Given the description of an element on the screen output the (x, y) to click on. 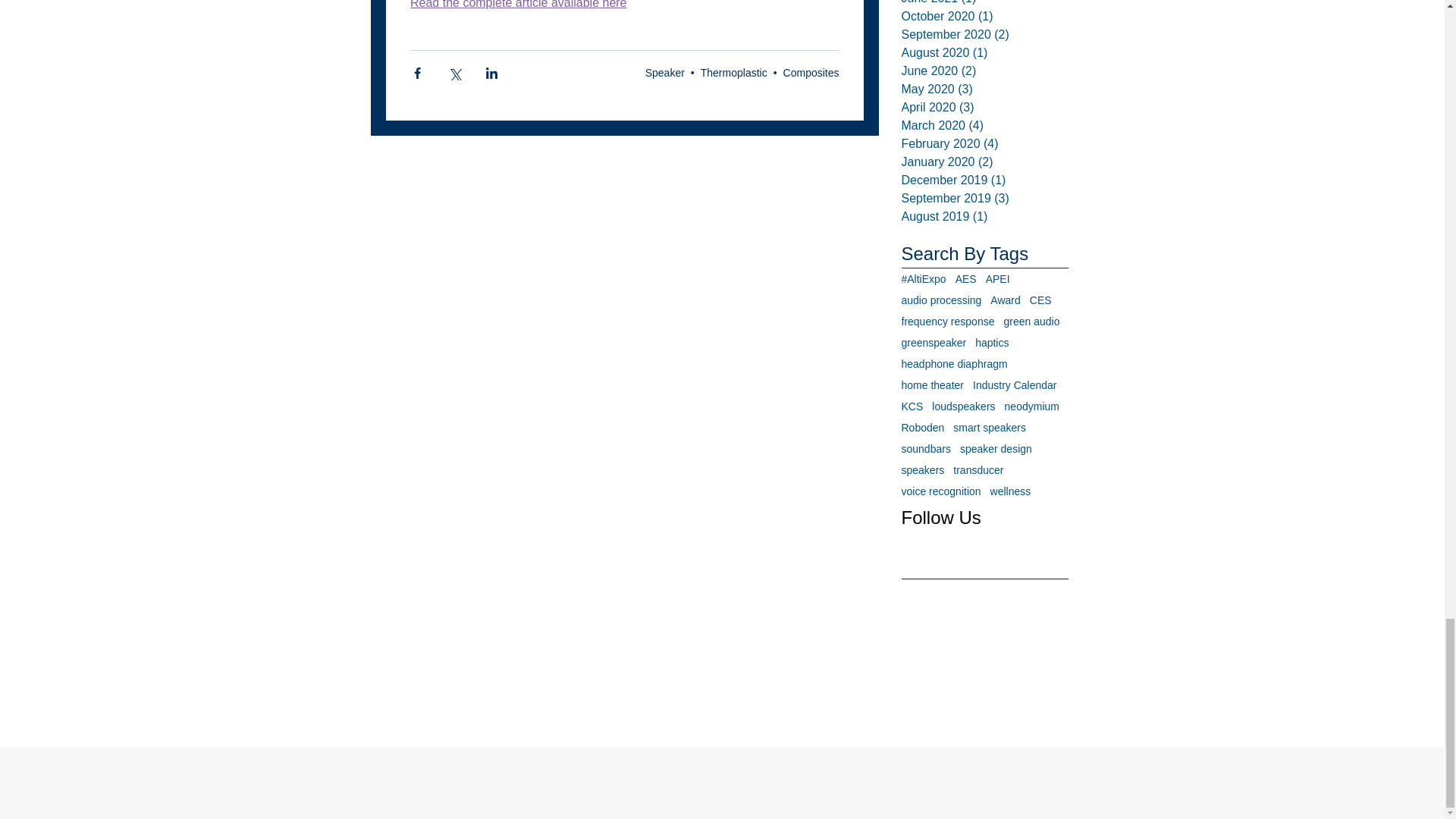
Composites (811, 72)
Read the complete article available here (517, 4)
Thermoplastic (733, 72)
Speaker (664, 72)
